Given the description of an element on the screen output the (x, y) to click on. 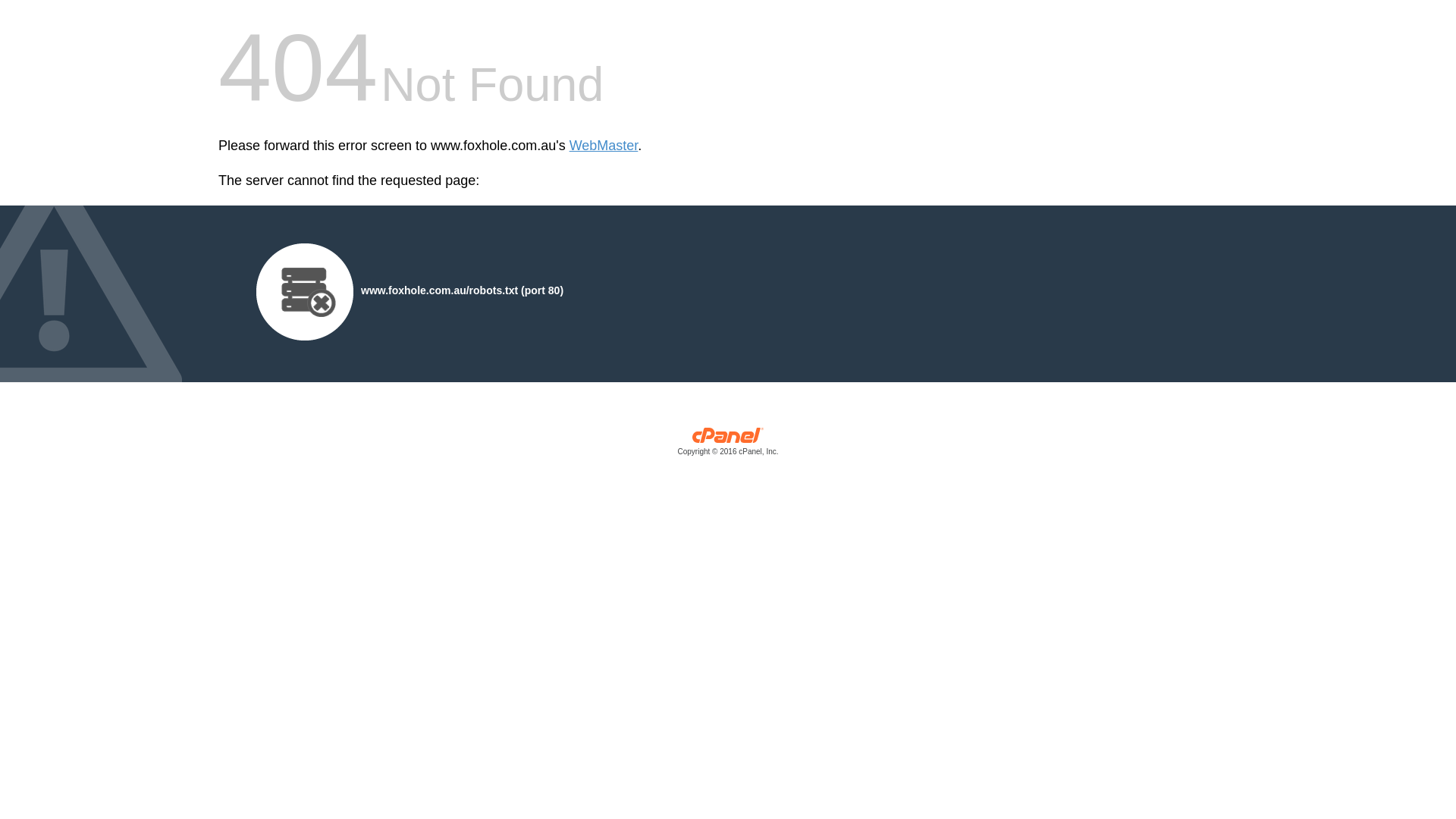
WebMaster Element type: text (603, 145)
